Given the description of an element on the screen output the (x, y) to click on. 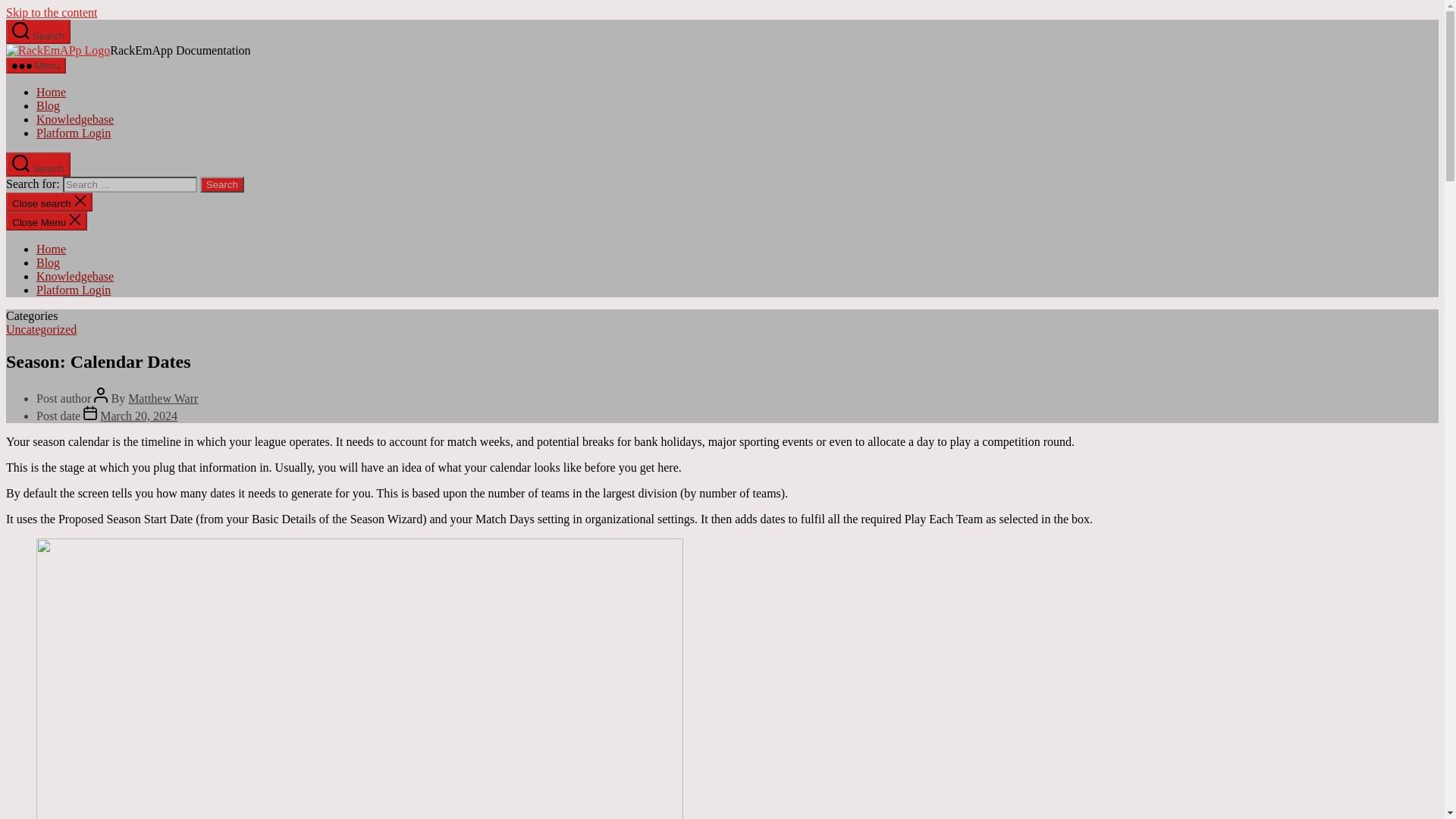
Home (50, 248)
Skip to the content (51, 11)
Search (222, 184)
Home (50, 91)
Matthew Warr (163, 398)
Platform Login (73, 289)
Platform Login (73, 132)
Uncategorized (41, 328)
Search (222, 184)
Knowledgebase (74, 276)
